Given the description of an element on the screen output the (x, y) to click on. 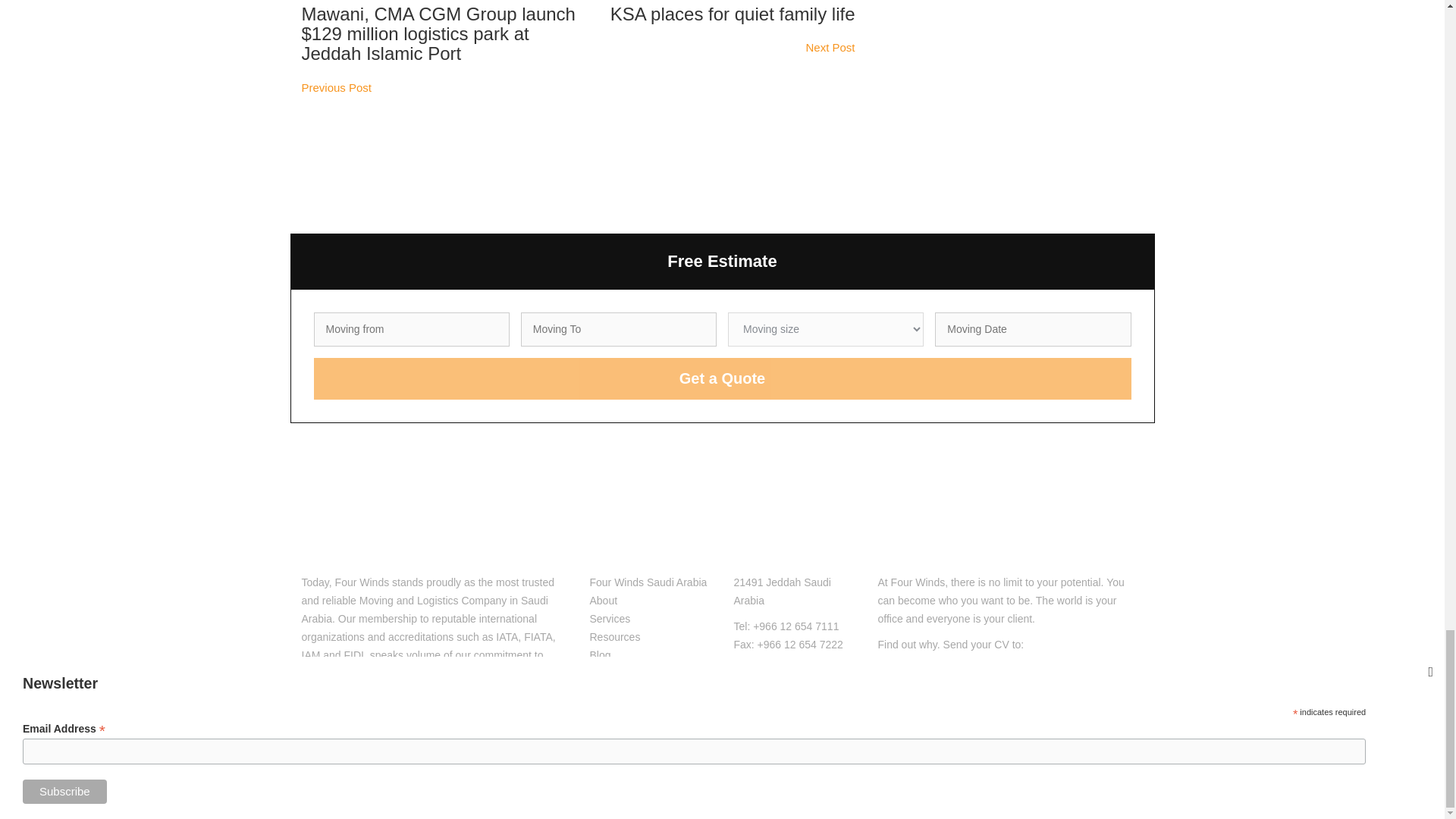
Get a Quote (722, 378)
